Given the description of an element on the screen output the (x, y) to click on. 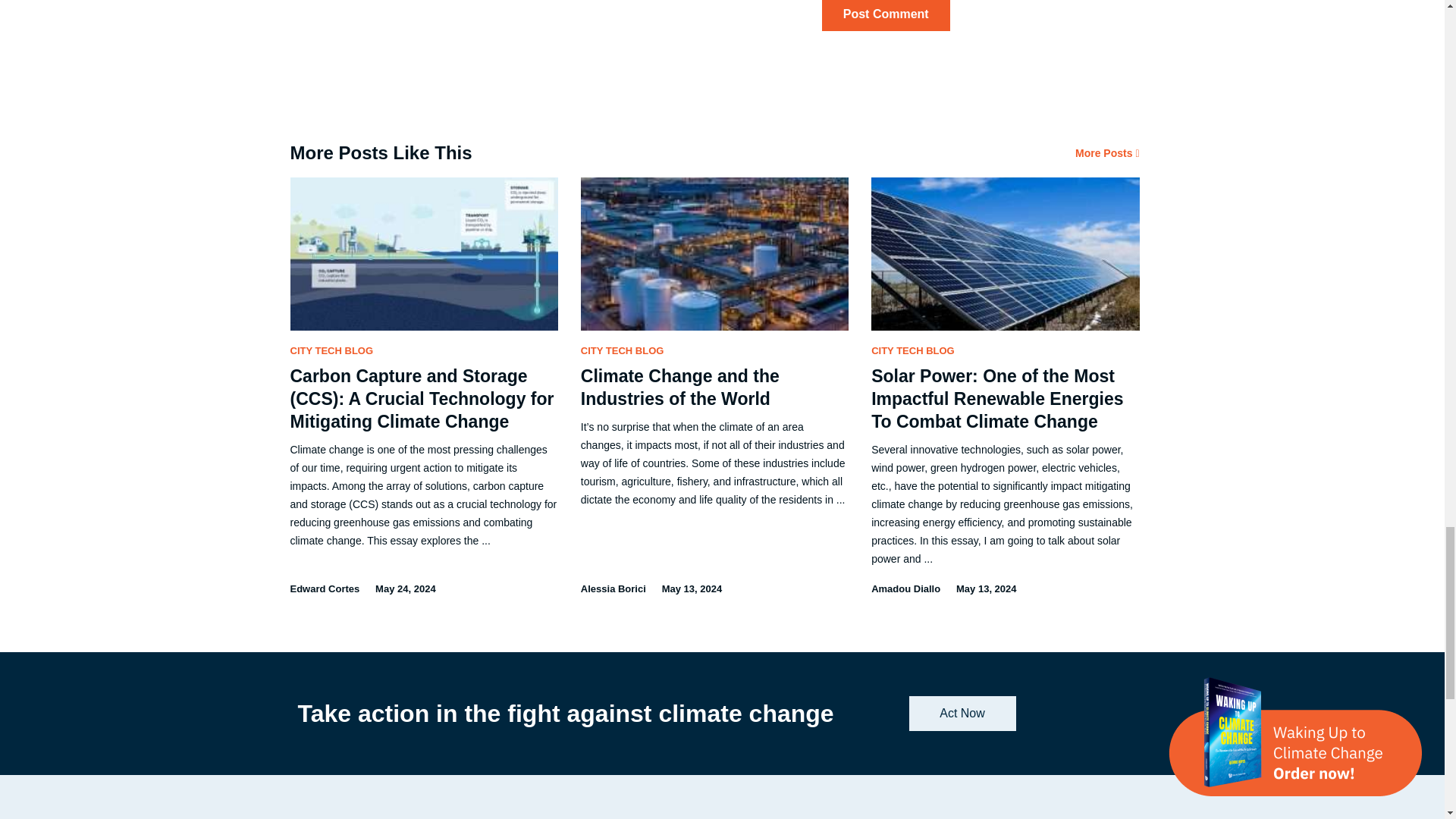
Post Comment (886, 15)
Post Comment (886, 15)
